Given the description of an element on the screen output the (x, y) to click on. 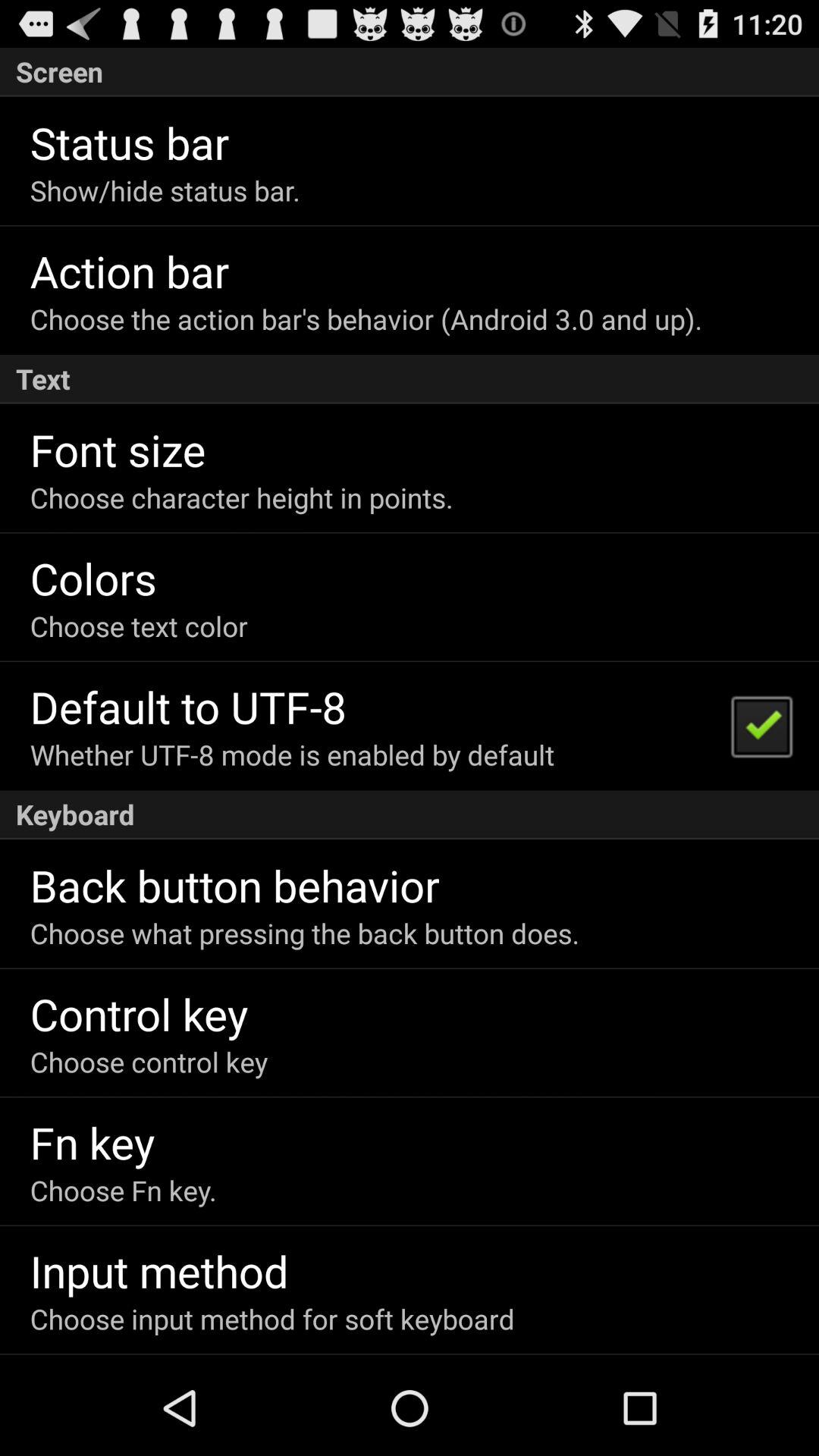
click the choose text color (138, 625)
